Given the description of an element on the screen output the (x, y) to click on. 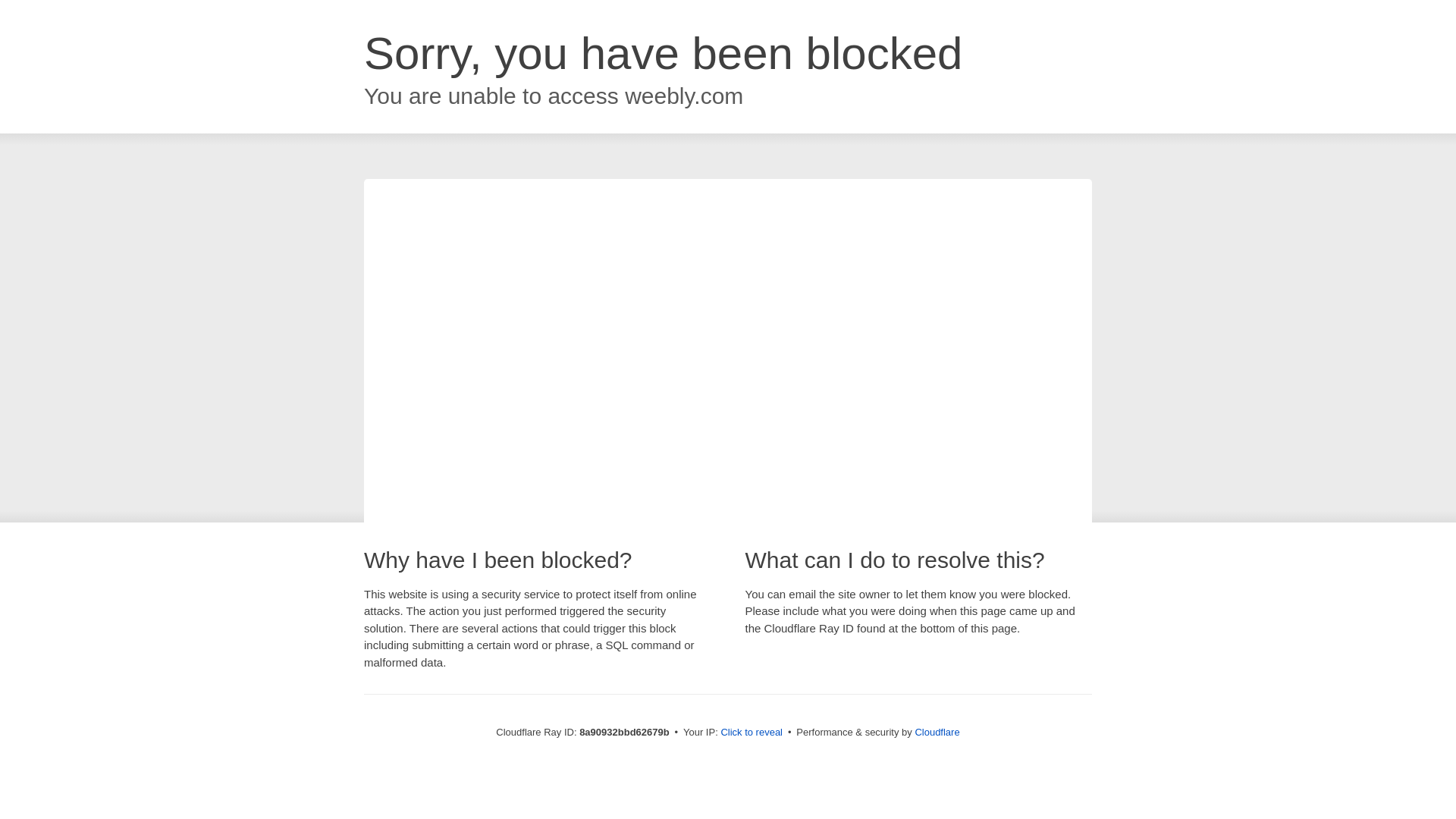
Cloudflare (936, 731)
Click to reveal (751, 732)
